Given the description of an element on the screen output the (x, y) to click on. 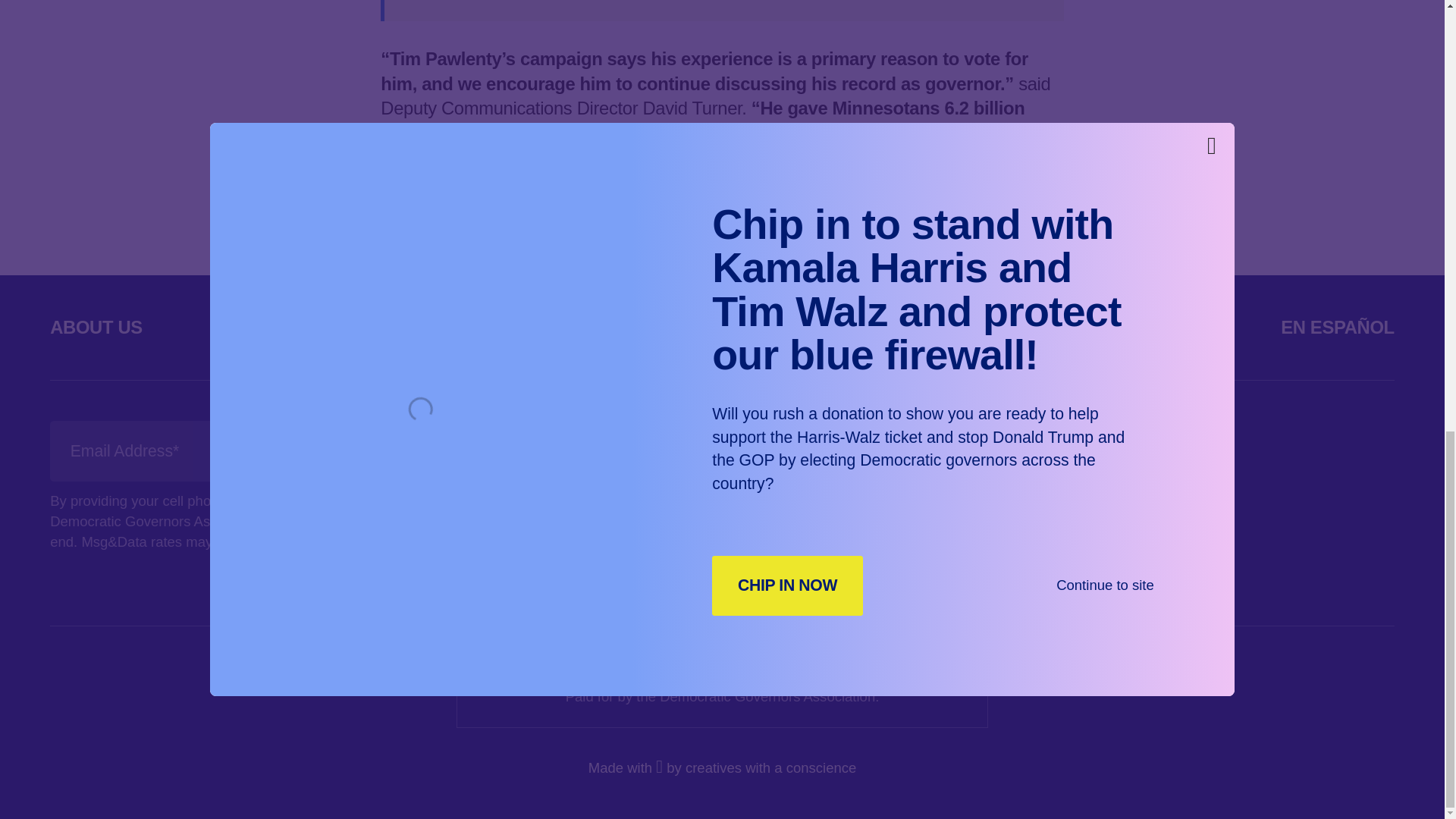
SHOP (973, 326)
JOIN THE TEAM (717, 450)
THE LATEST (544, 326)
TAKE ACTION (773, 326)
ABOUT US (95, 326)
GOVERNORS (316, 326)
Privacy Policy (300, 541)
JOBS (1139, 326)
